Given the description of an element on the screen output the (x, y) to click on. 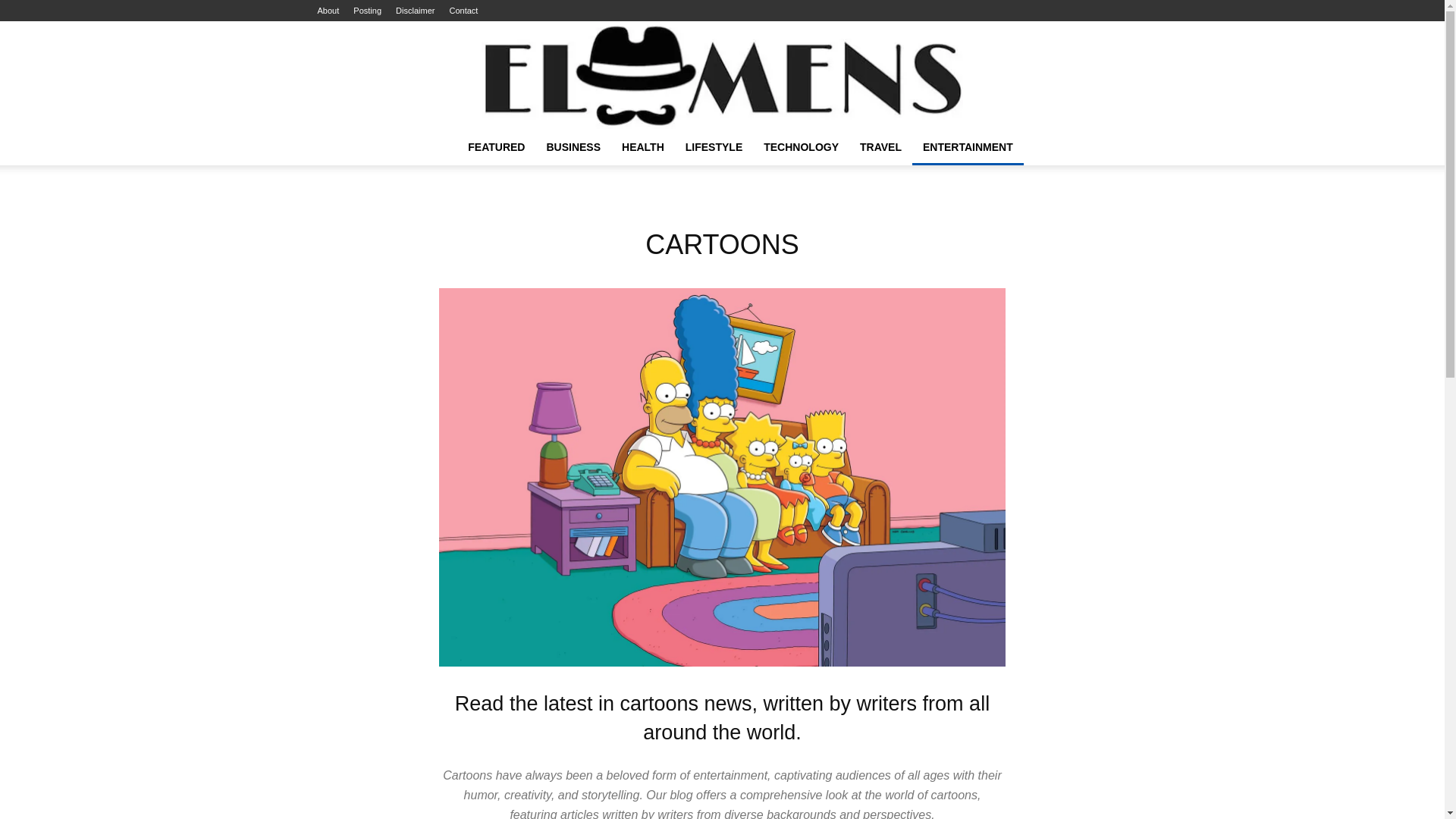
elmenslogo (721, 74)
LIFESTYLE (713, 146)
TECHNOLOGY (800, 146)
CATEGORIES (496, 146)
